Given the description of an element on the screen output the (x, y) to click on. 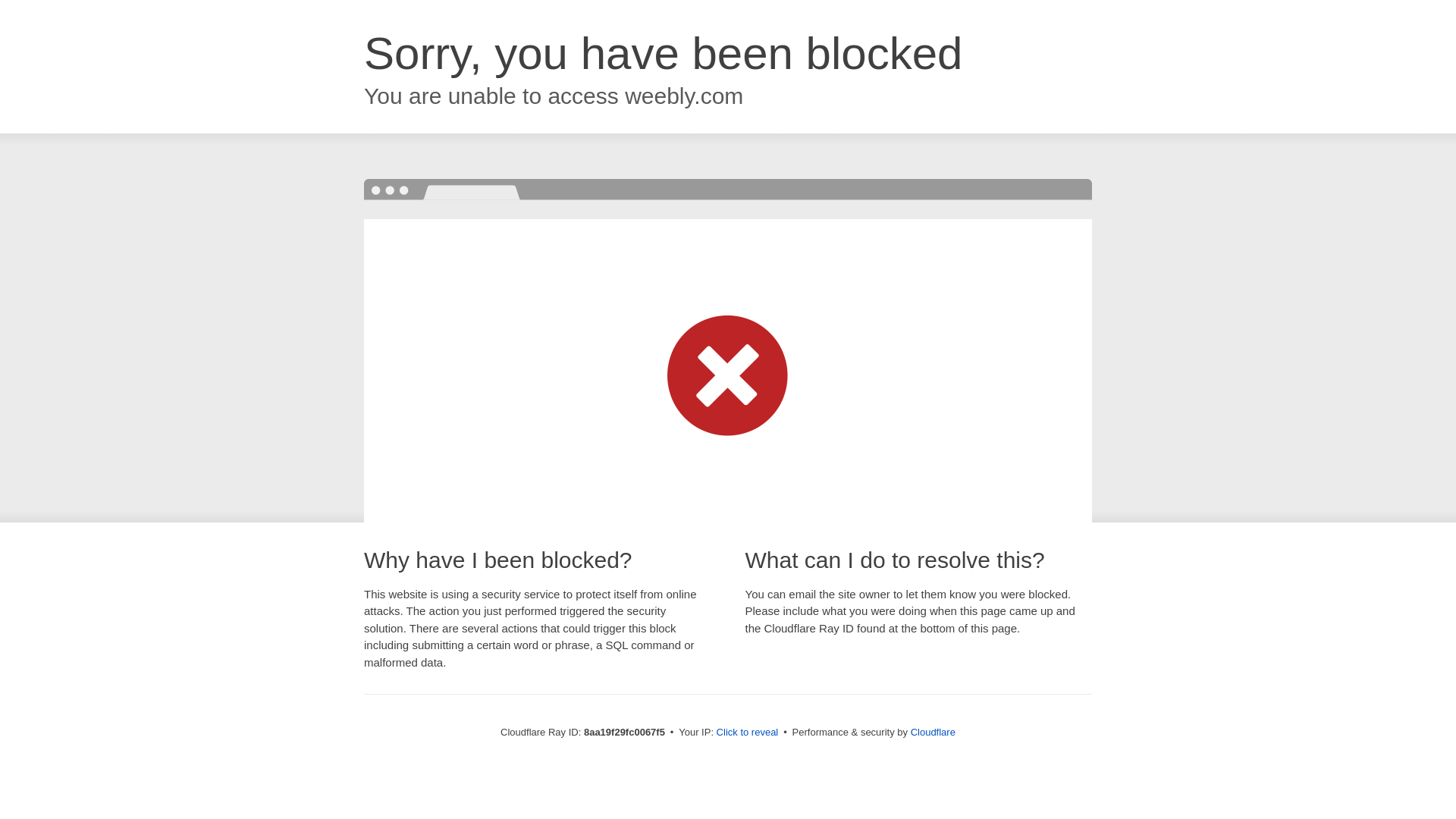
Cloudflare (933, 731)
Click to reveal (747, 732)
